Given the description of an element on the screen output the (x, y) to click on. 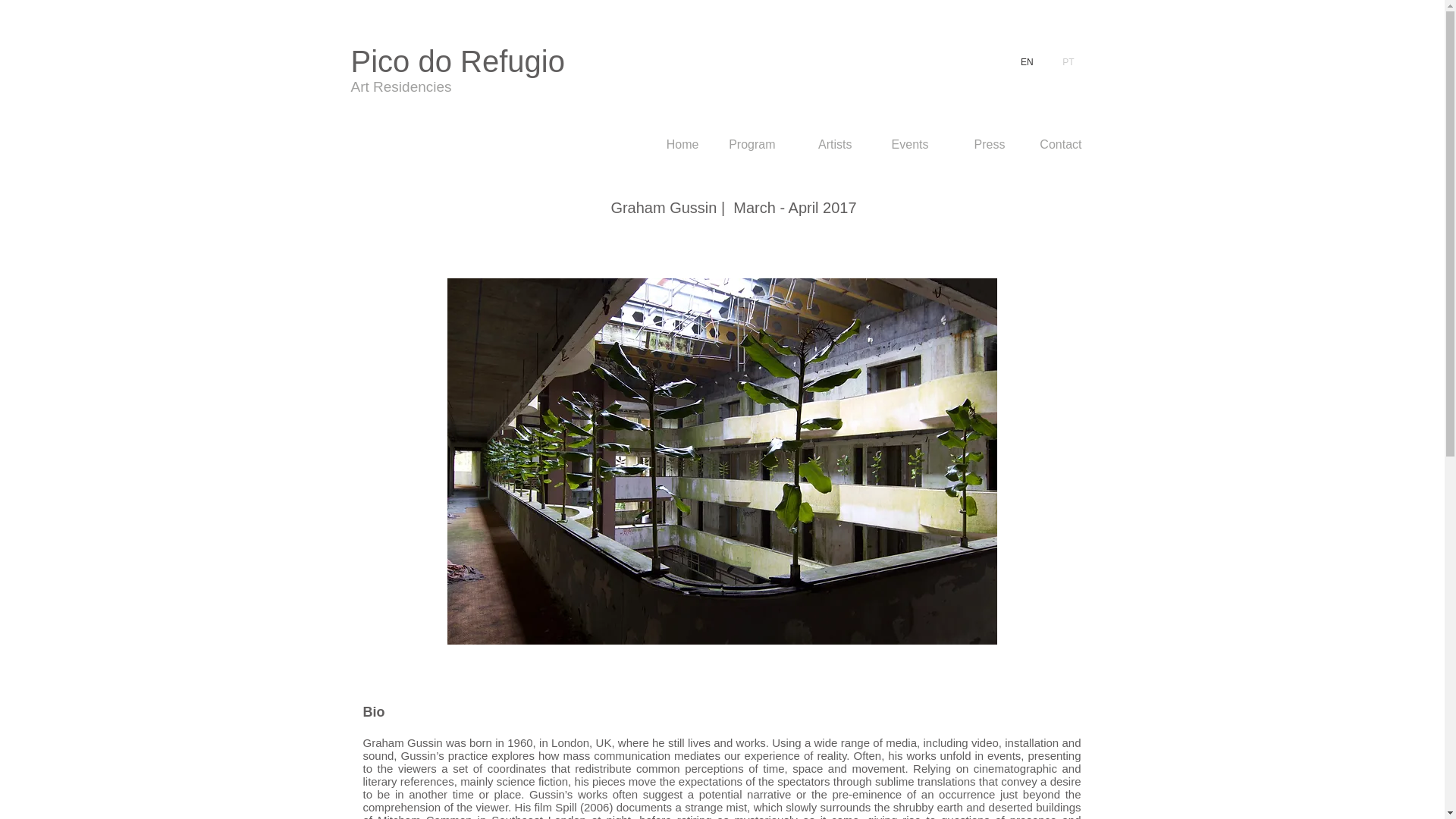
Home (670, 144)
Contact (1054, 144)
Artists (825, 144)
Pico do Refugio (457, 61)
Program (748, 144)
Press (978, 144)
EN (1023, 62)
Events (901, 144)
PT (1063, 62)
